Given the description of an element on the screen output the (x, y) to click on. 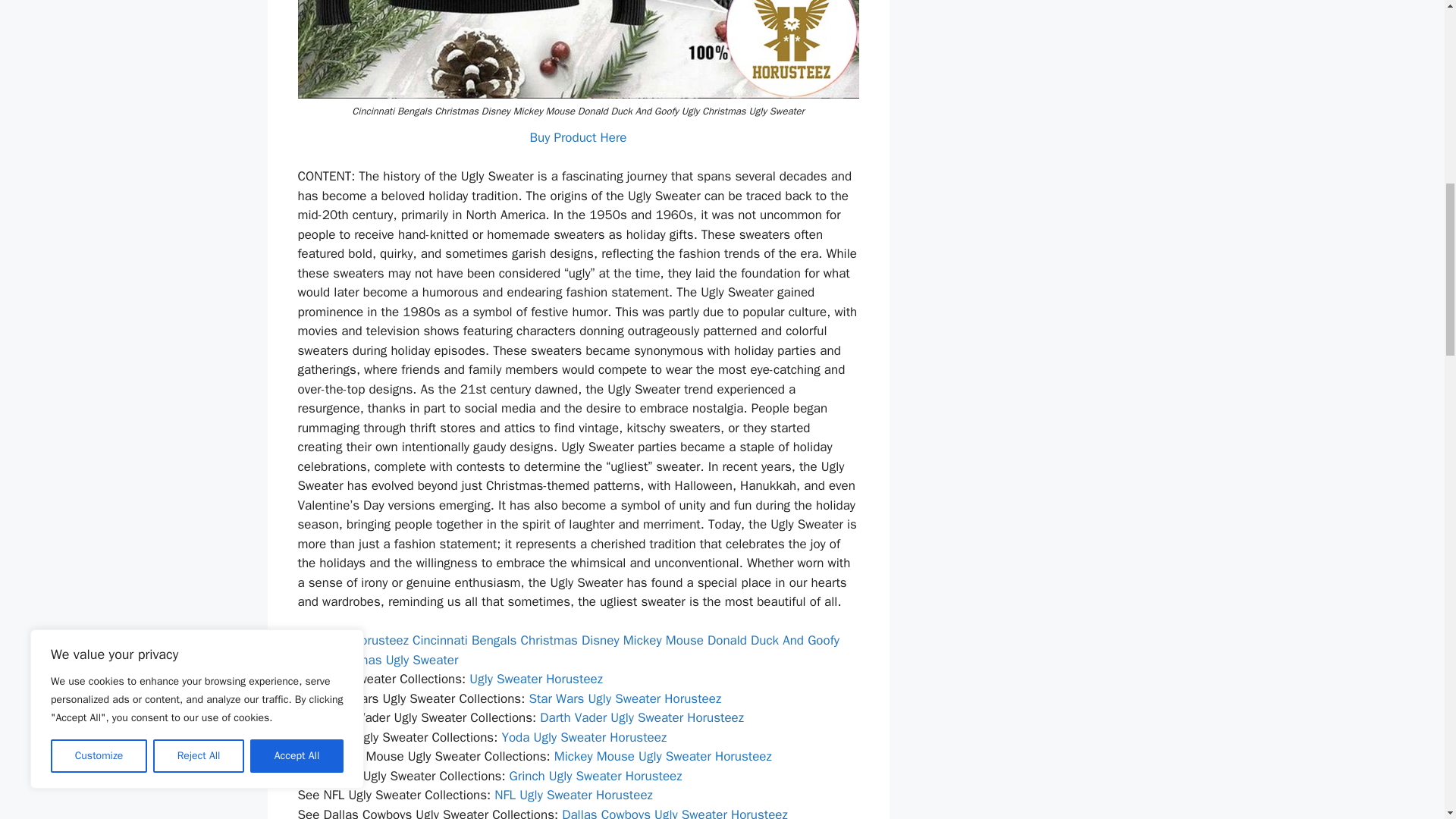
NFL Ugly Sweater Horusteez (573, 795)
Dallas Cowboys Ugly Sweater Horusteez (674, 812)
Grinch Ugly Sweater Horusteez (595, 775)
Star Wars Ugly Sweater Horusteez (624, 698)
Ugly Sweater Horusteez (535, 678)
Yoda Ugly Sweater Horusteez (583, 737)
Mickey Mouse Ugly Sweater Horusteez (662, 756)
Darth Vader Ugly Sweater Horusteez (642, 717)
Buy Product Here (577, 137)
